Given the description of an element on the screen output the (x, y) to click on. 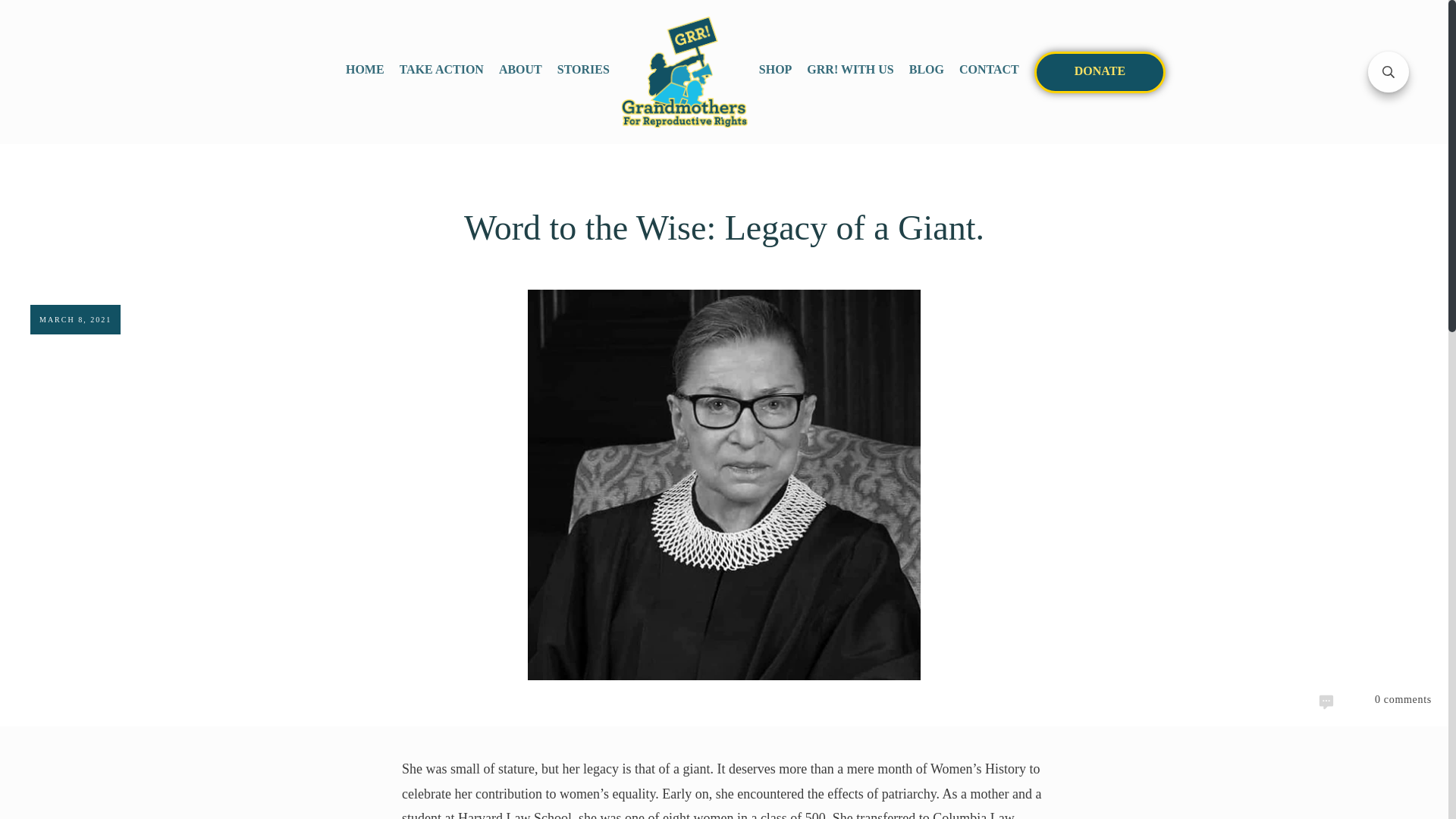
BLOG (925, 70)
ABOUT (520, 70)
logo (684, 71)
STORIES (583, 70)
HOME (365, 70)
CONTACT (989, 70)
DONATE (1099, 72)
GRR! WITH US (849, 70)
TAKE ACTION (440, 70)
SHOP (775, 70)
